Given the description of an element on the screen output the (x, y) to click on. 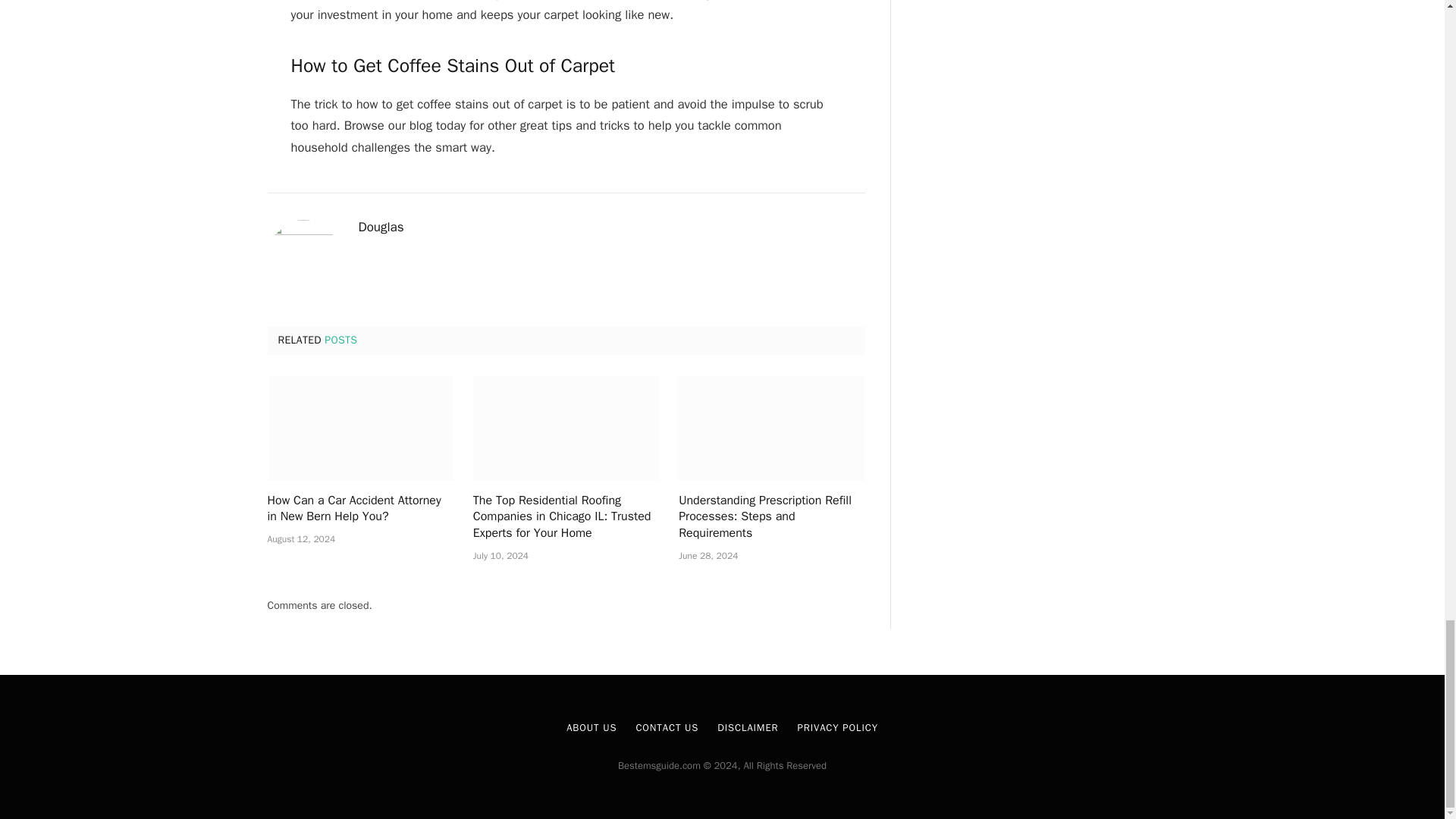
How Can a Car Accident Attorney in New Bern Help You? (359, 427)
Posts by Douglas (380, 227)
How Can a Car Accident Attorney in New Bern Help You? (359, 509)
Douglas (380, 227)
